Given the description of an element on the screen output the (x, y) to click on. 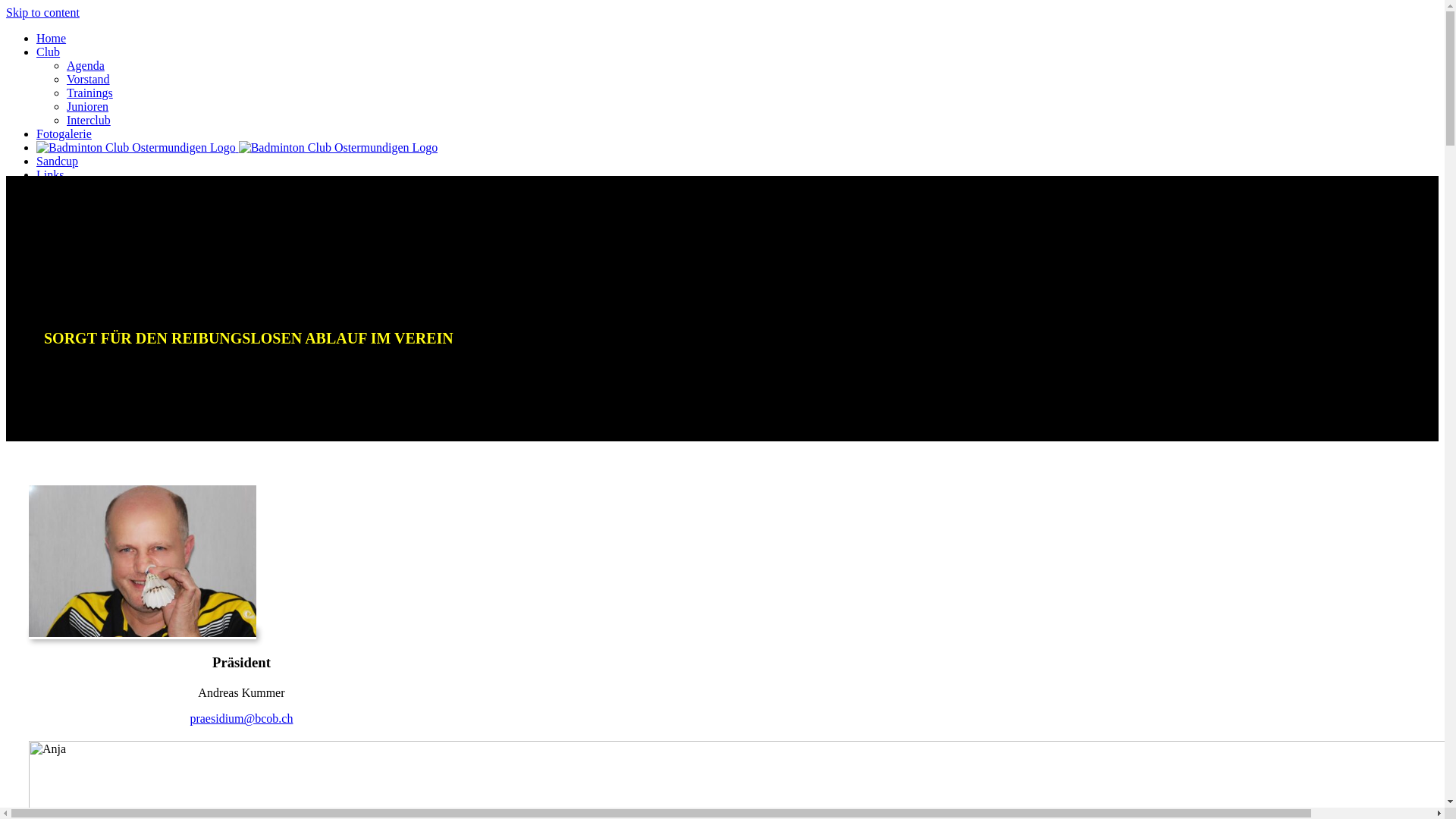
Club Element type: text (47, 51)
Links Element type: text (49, 174)
Home Element type: text (50, 37)
Kontakt Element type: text (55, 188)
Trainings Element type: text (89, 92)
Fotogalerie Element type: text (63, 133)
Sandcup Element type: text (57, 160)
Skip to content Element type: text (42, 12)
Agenda Element type: text (85, 65)
1690573992987 Element type: hover (142, 561)
Interclub Element type: text (88, 119)
Vorstand Element type: text (87, 78)
Junioren Element type: text (87, 106)
admin Element type: text (64, 213)
praesidium@bcob.ch Element type: text (240, 718)
